Given the description of an element on the screen output the (x, y) to click on. 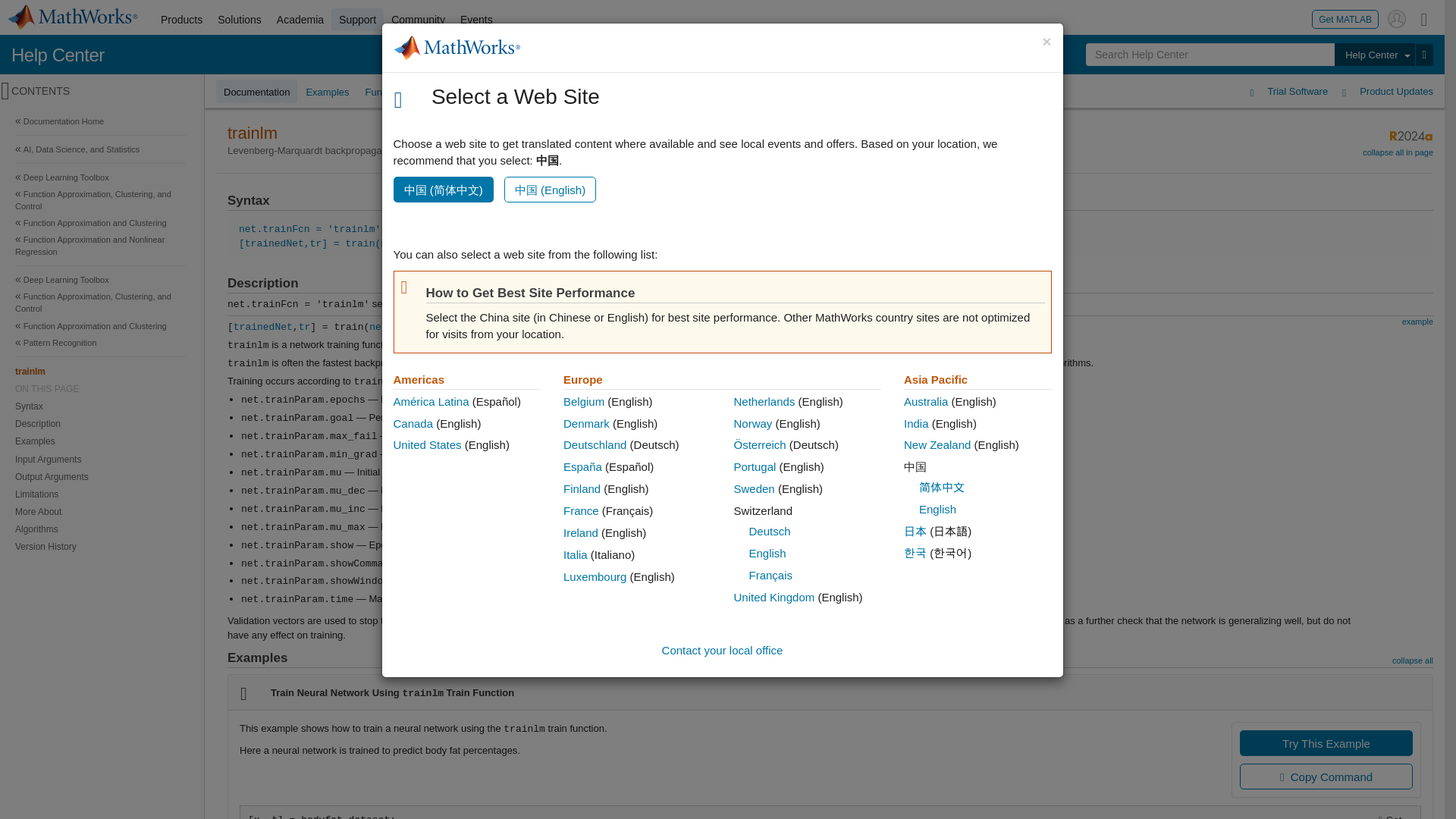
Support (357, 19)
Matrix Menu (1423, 18)
trainlm (100, 371)
ON THIS PAGE (100, 388)
Solutions (239, 19)
Products (180, 19)
Community (418, 19)
Academia (300, 19)
Get MATLAB (1344, 18)
Sign In to Your MathWorks Account (1396, 18)
Events (476, 19)
